Given the description of an element on the screen output the (x, y) to click on. 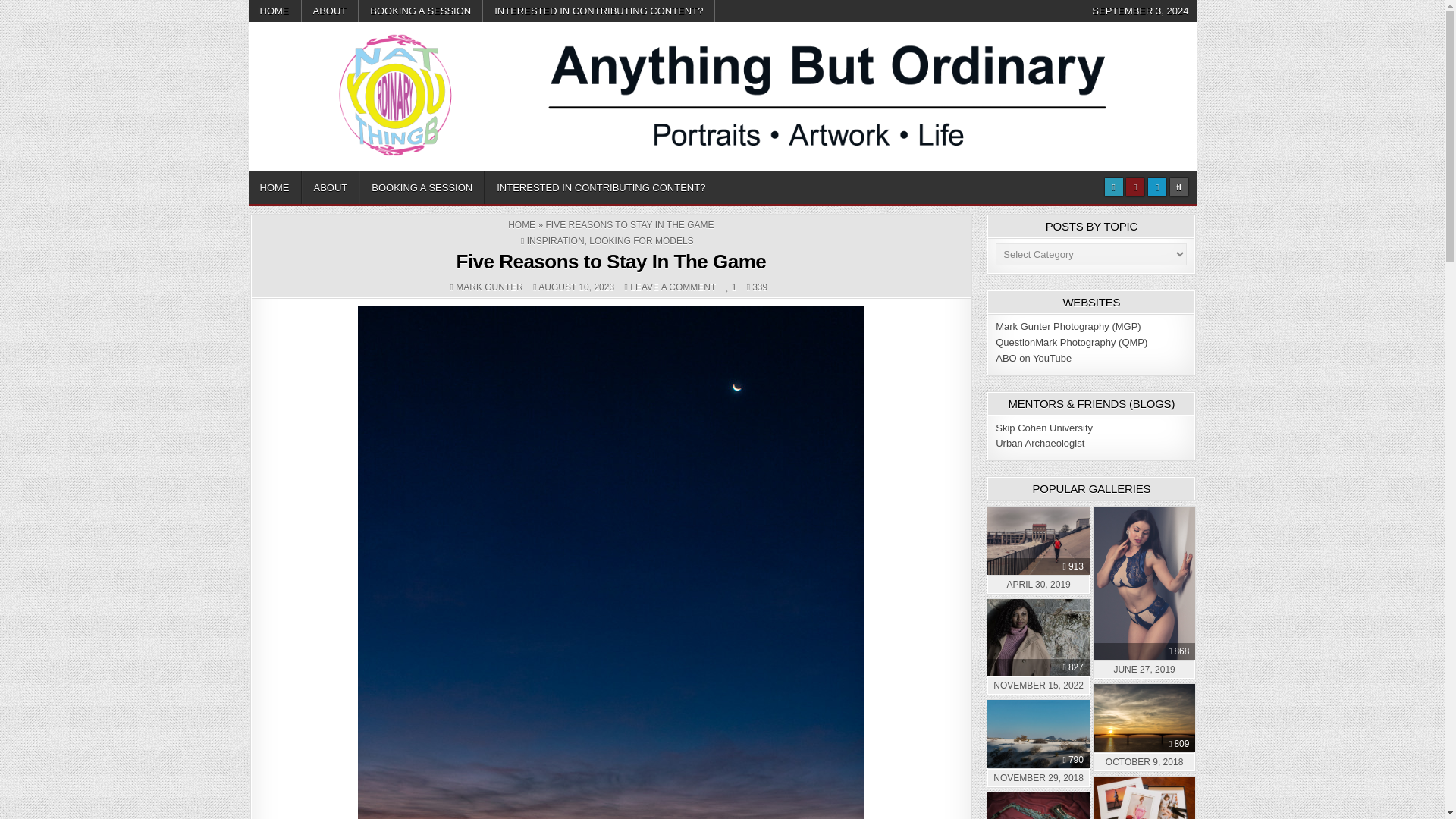
Like this (731, 286)
BOOKING A SESSION (421, 187)
HOME (673, 286)
1 (521, 225)
Five Reasons to Stay In The Game (731, 286)
INTERESTED IN CONTRIBUTING CONTENT? (610, 261)
Five Reasons to Stay In The Game (600, 187)
ABOUT (420, 11)
